Given the description of an element on the screen output the (x, y) to click on. 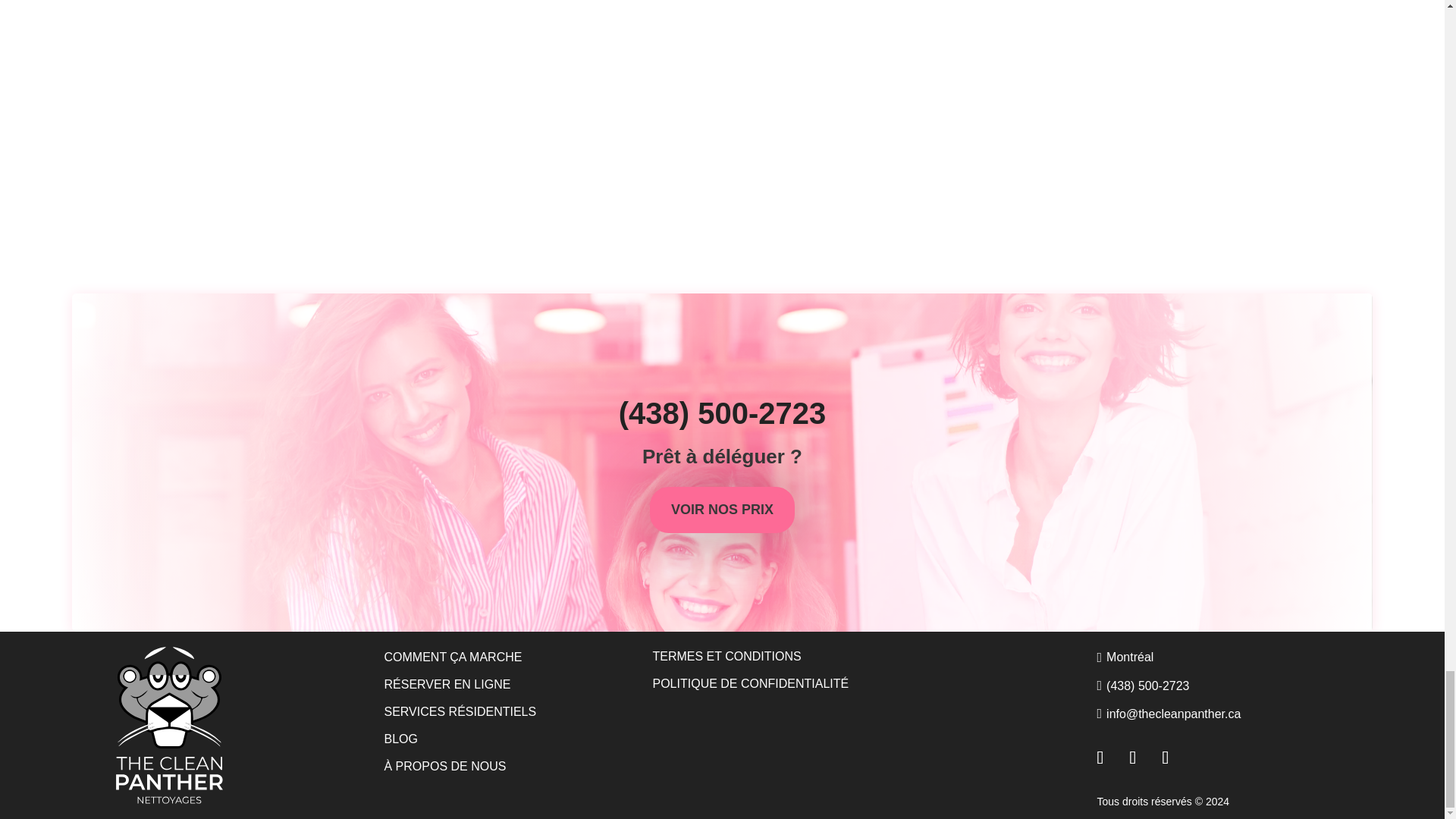
Suivez sur Facebook (1110, 752)
Suivez sur Yelp (1175, 752)
Suivez sur Instagram (1142, 752)
